Given the description of an element on the screen output the (x, y) to click on. 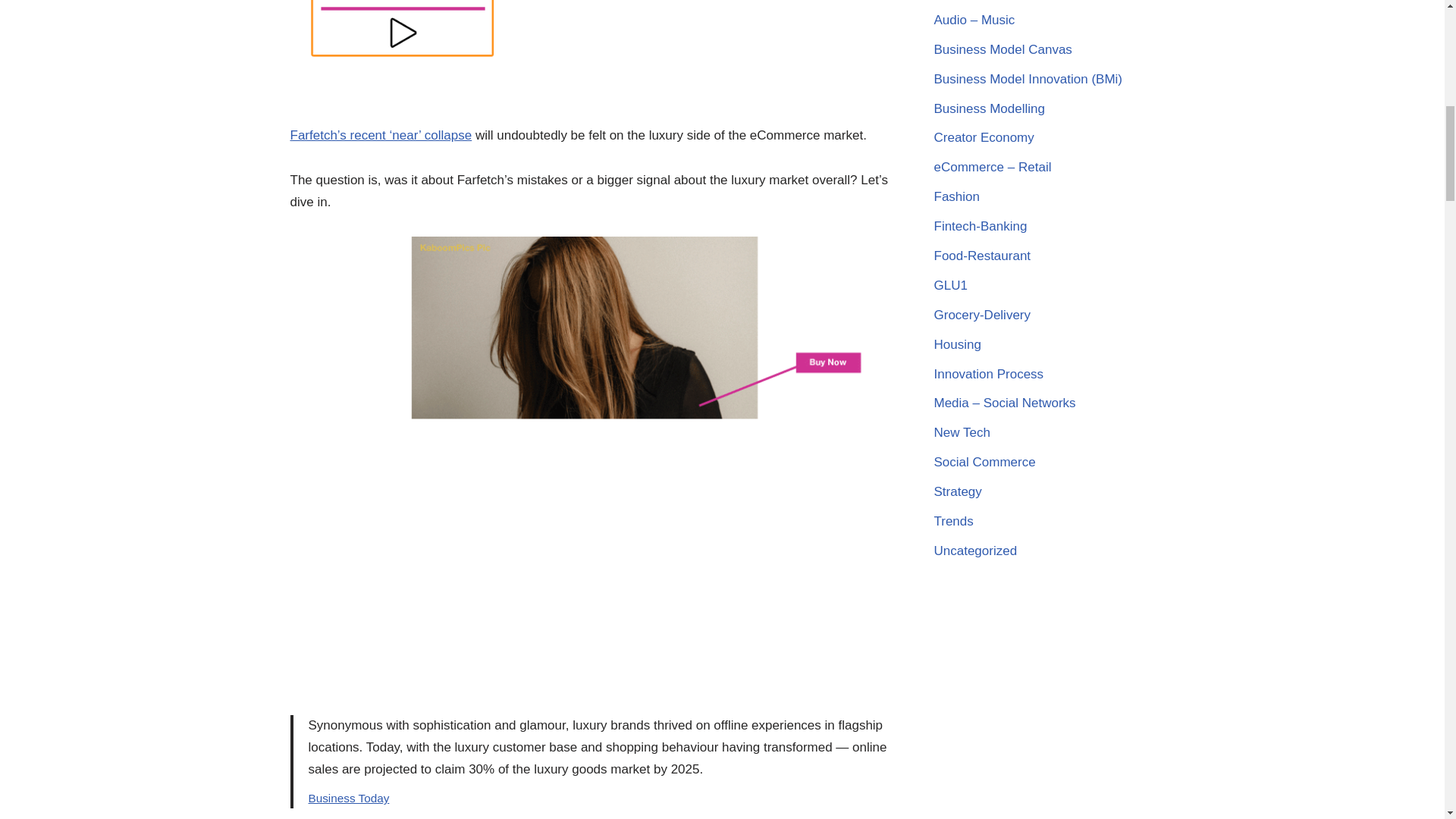
Farfetch's recent collapse (380, 134)
Business Today (347, 797)
Business Today (347, 797)
